Given the description of an element on the screen output the (x, y) to click on. 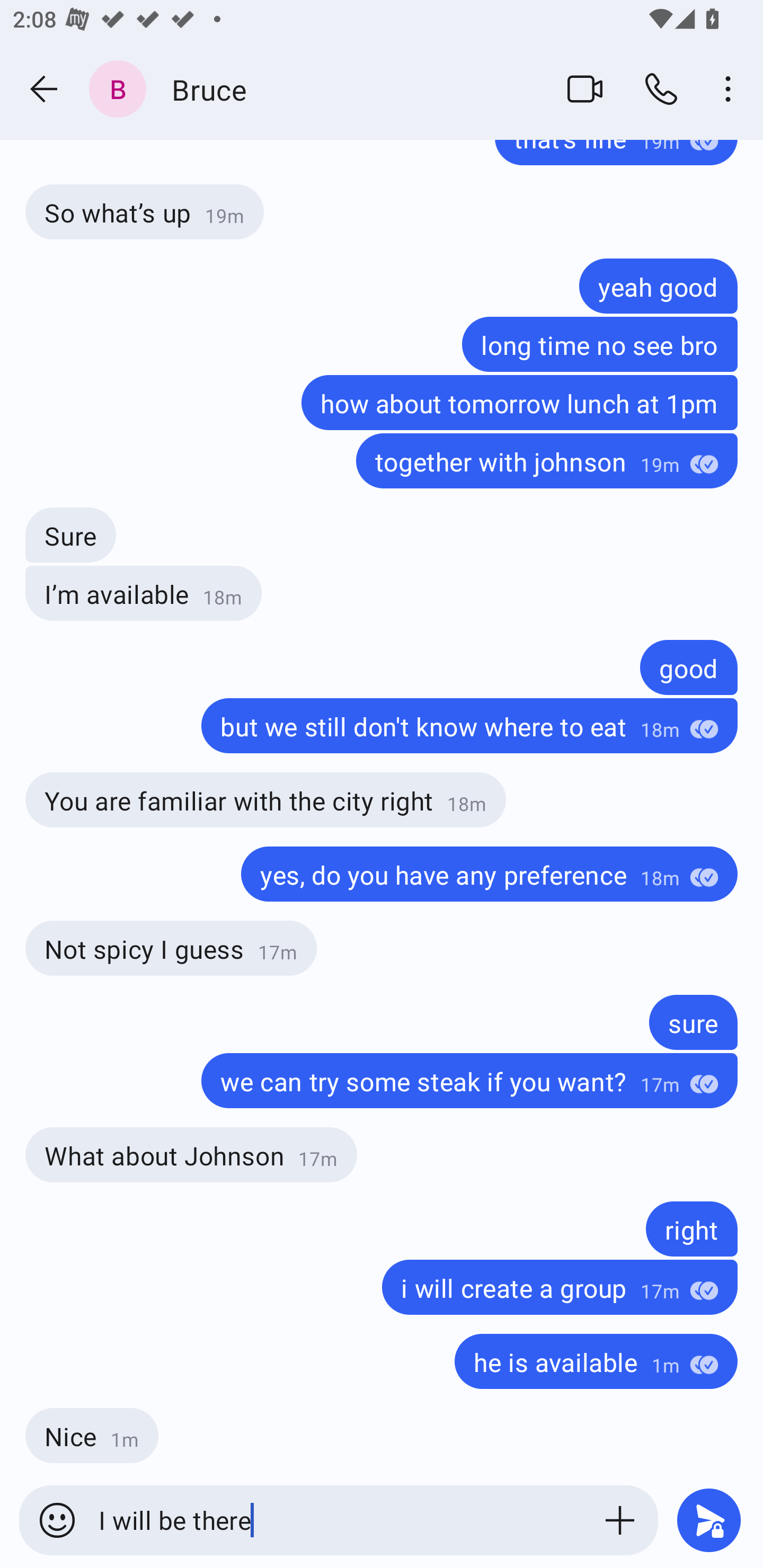
Send message (708, 1520)
